Given the description of an element on the screen output the (x, y) to click on. 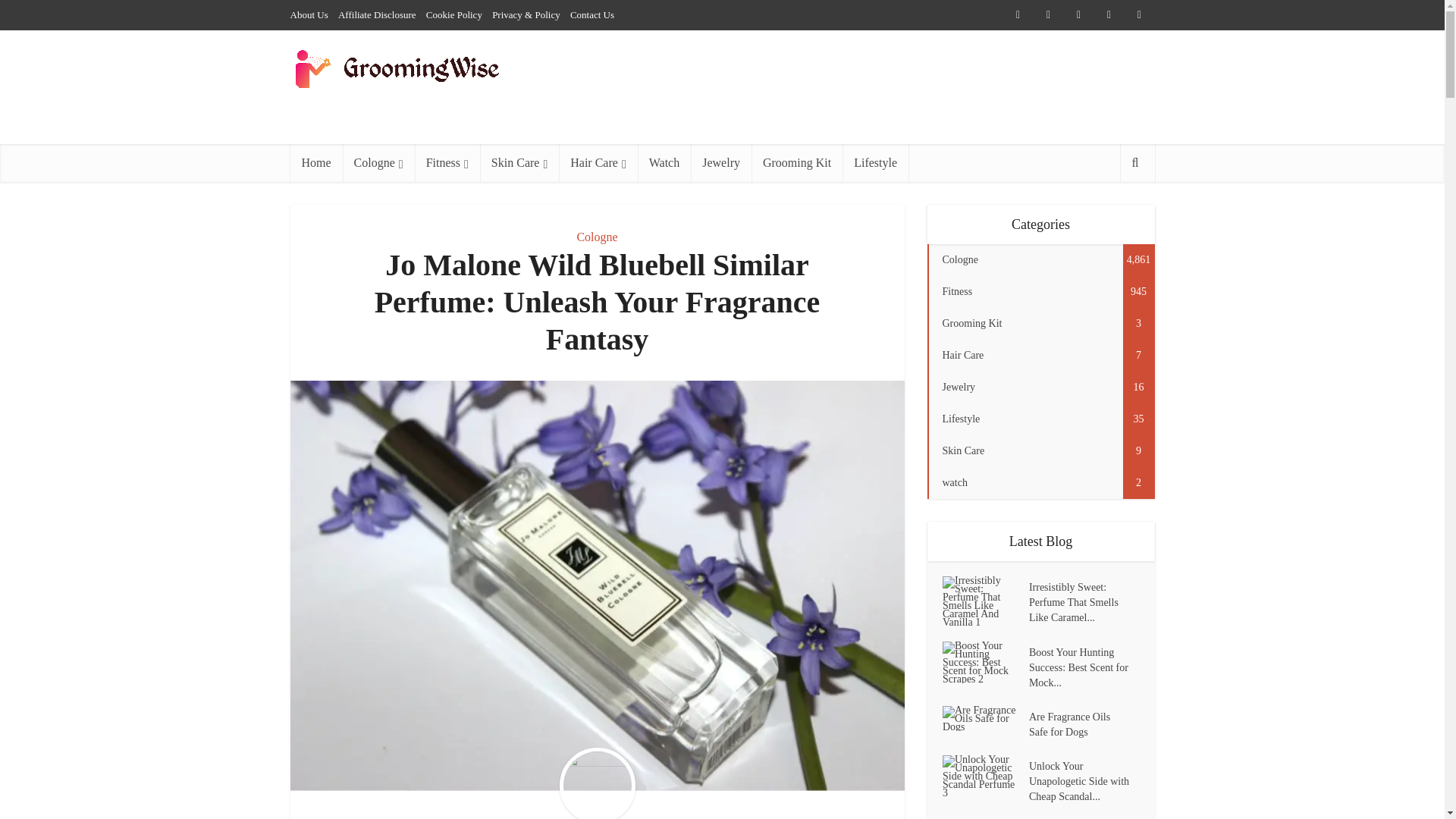
Cookie Policy (453, 14)
Skin Care (519, 162)
Contact Us (592, 14)
Home (315, 162)
About Us (308, 14)
Affiliate Disclosure (376, 14)
Cologne (378, 162)
Fitness (447, 162)
